Given the description of an element on the screen output the (x, y) to click on. 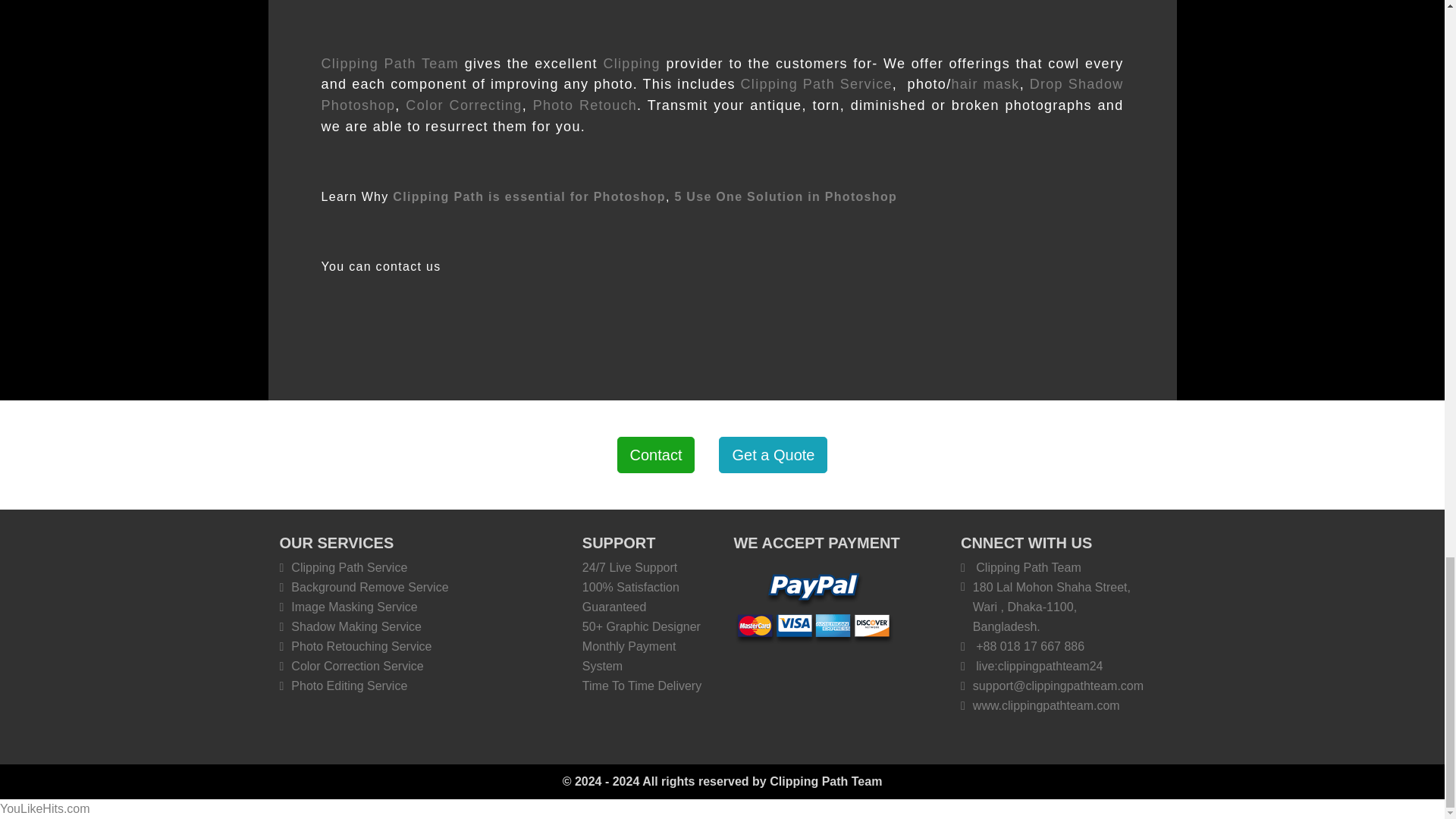
5 Use One Solution in Photoshop (785, 196)
Clipping Path Team (390, 63)
Photo Retouch (584, 105)
hair mask (984, 83)
Get a Quote (773, 454)
Clipping Path is essential for Photoshop (529, 196)
Clipping Path Service (816, 83)
Clipping (630, 63)
Get Twitter Followers (45, 808)
Color Correcting (463, 105)
Contact (656, 454)
Drop Shadow Photoshop (722, 94)
